Given the description of an element on the screen output the (x, y) to click on. 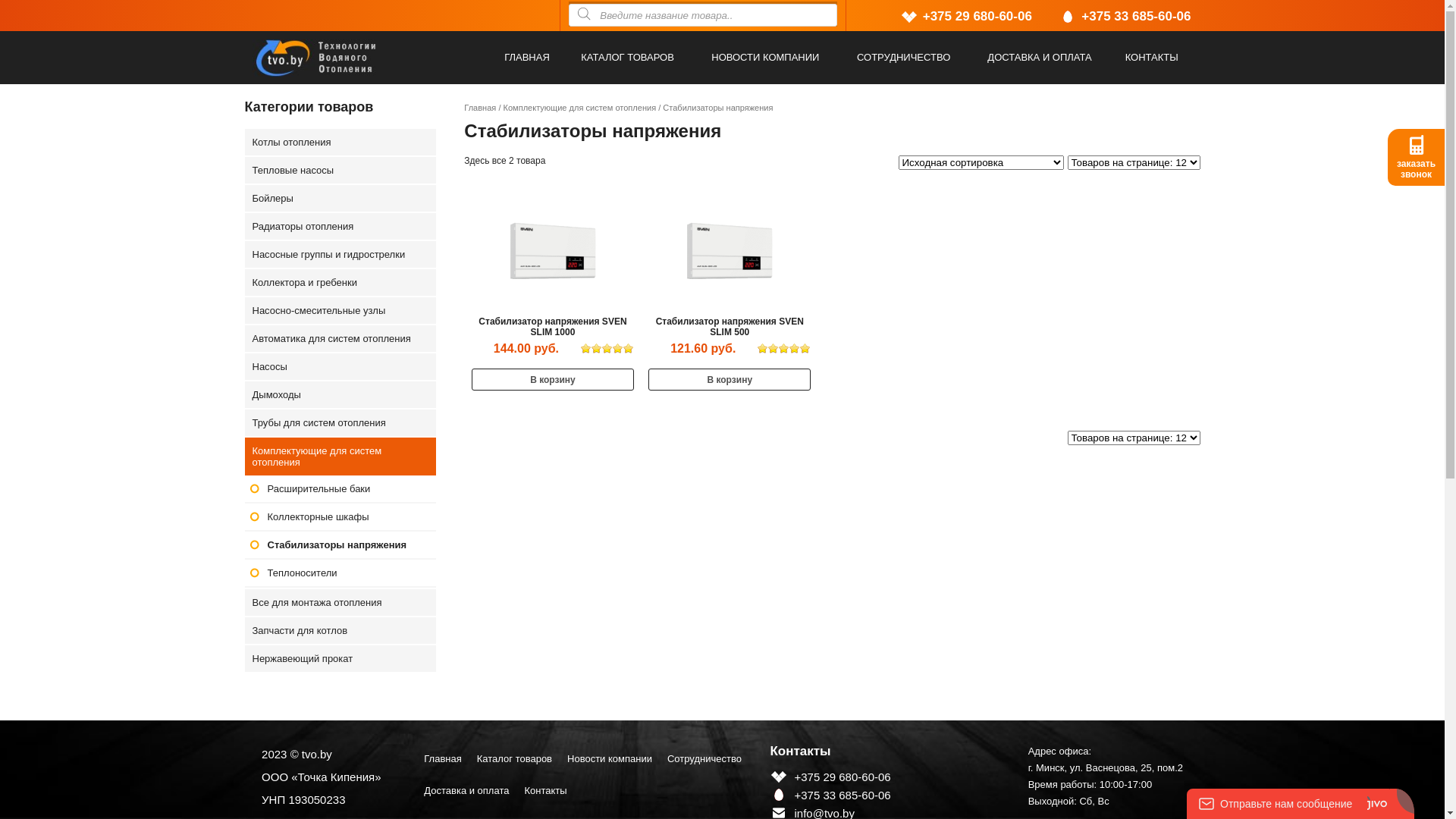
+375 29 680-60-06 Element type: text (977, 16)
+375 33 685-60-06 Element type: text (1135, 16)
